Given the description of an element on the screen output the (x, y) to click on. 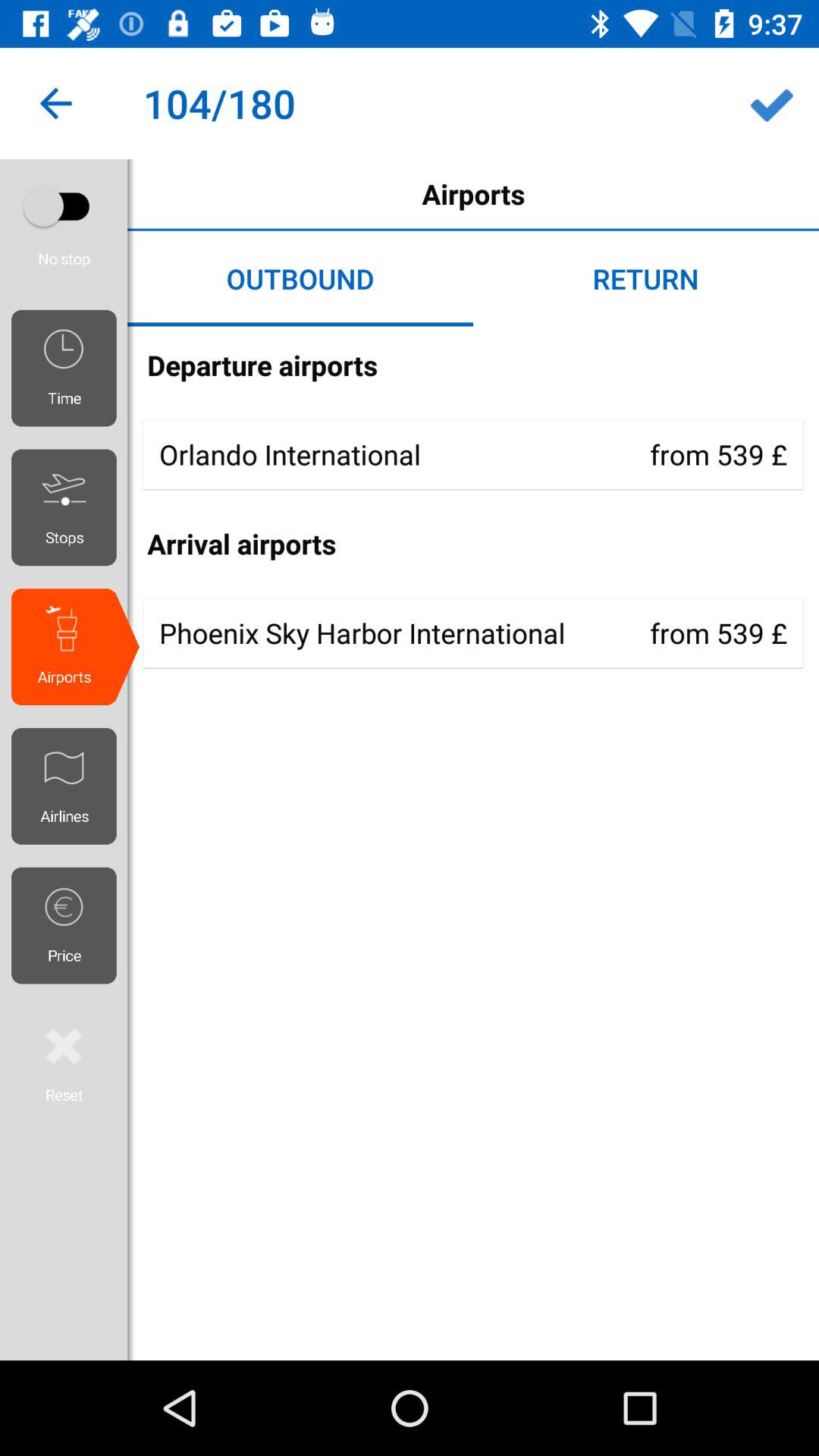
auto play (63, 206)
